Given the description of an element on the screen output the (x, y) to click on. 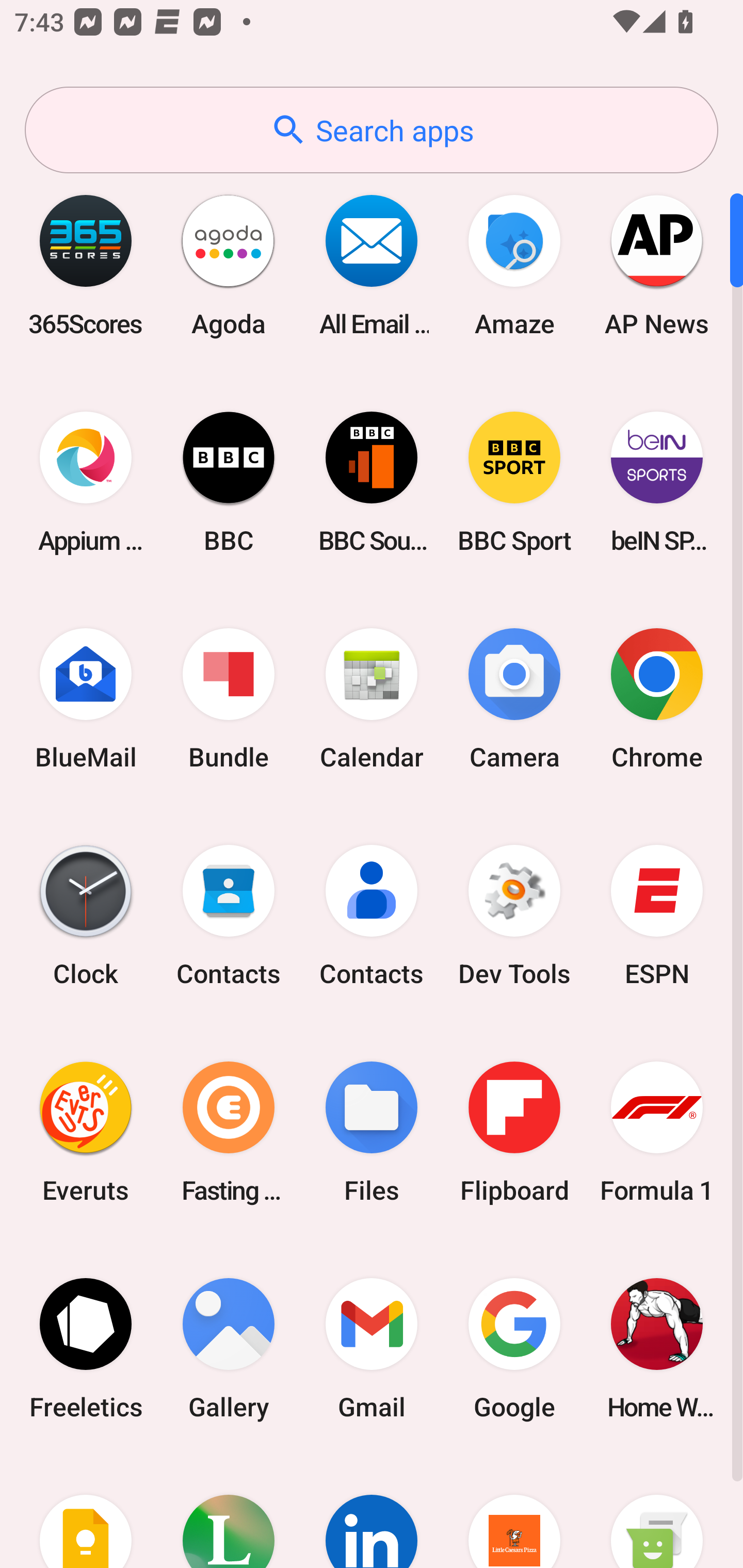
  Search apps (371, 130)
365Scores (85, 264)
Agoda (228, 264)
All Email Connect (371, 264)
Amaze (514, 264)
AP News (656, 264)
Appium Settings (85, 482)
BBC (228, 482)
BBC Sounds (371, 482)
BBC Sport (514, 482)
beIN SPORTS (656, 482)
BlueMail (85, 699)
Bundle (228, 699)
Calendar (371, 699)
Camera (514, 699)
Chrome (656, 699)
Clock (85, 915)
Contacts (228, 915)
Contacts (371, 915)
Dev Tools (514, 915)
ESPN (656, 915)
Everuts (85, 1131)
Fasting Coach (228, 1131)
Files (371, 1131)
Flipboard (514, 1131)
Formula 1 (656, 1131)
Freeletics (85, 1348)
Gallery (228, 1348)
Gmail (371, 1348)
Google (514, 1348)
Home Workout (656, 1348)
Keep Notes (85, 1512)
Lifesum (228, 1512)
LinkedIn (371, 1512)
Little Caesars Pizza (514, 1512)
Messaging (656, 1512)
